Given the description of an element on the screen output the (x, y) to click on. 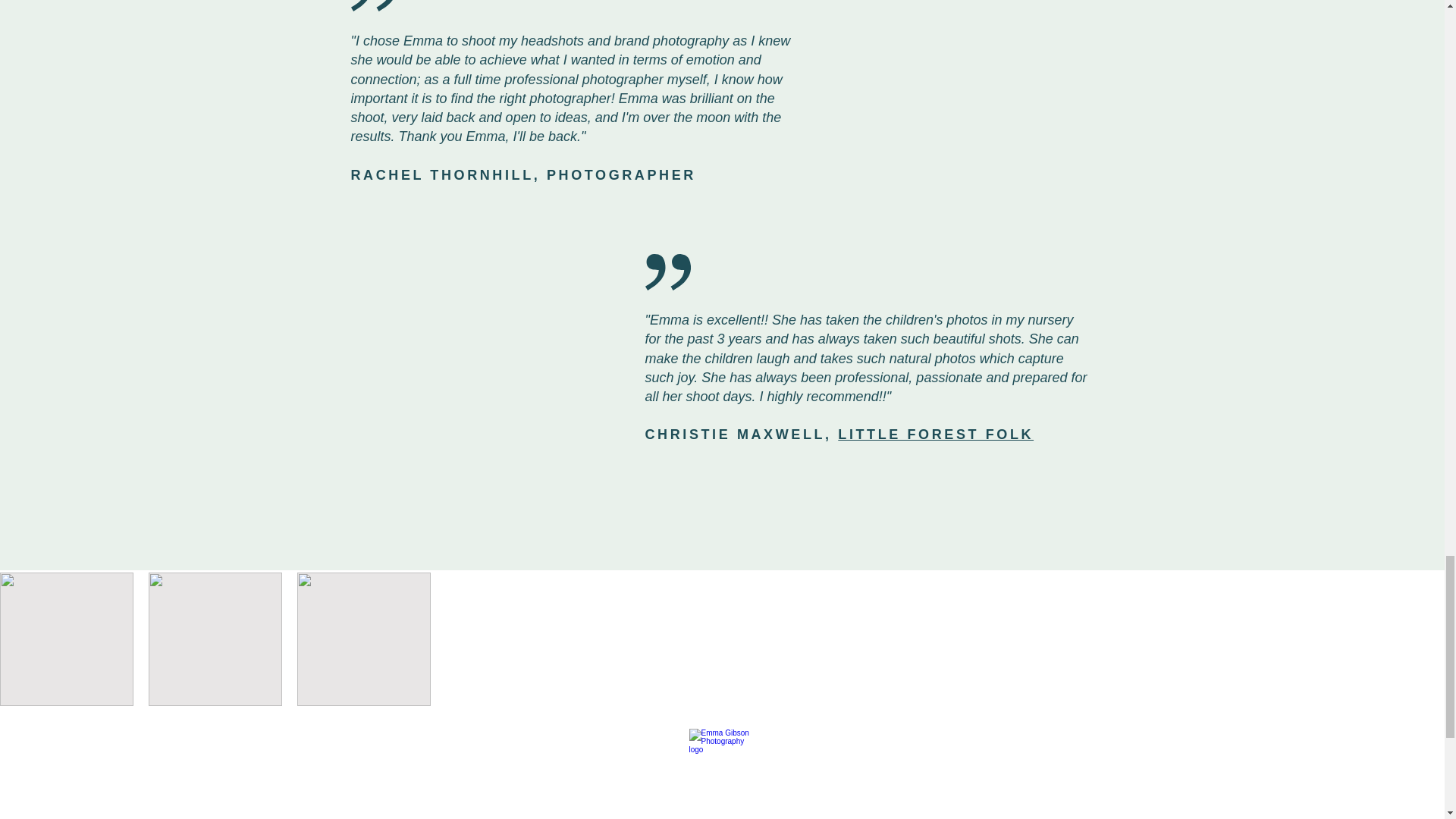
LITTLE FOREST FOLK (935, 434)
